Given the description of an element on the screen output the (x, y) to click on. 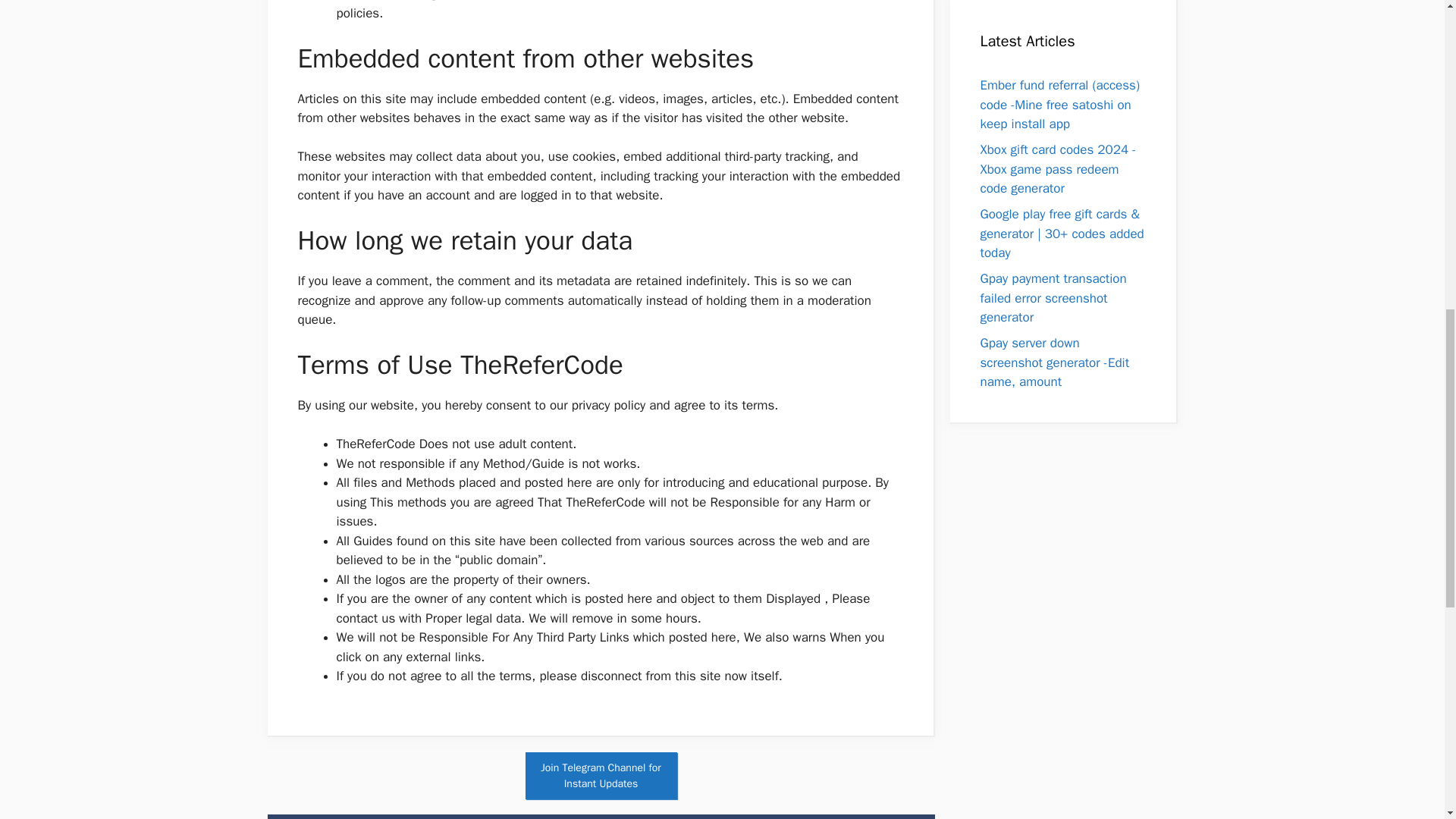
Gpay server down screenshot generator -Edit name, amount (1054, 361)
Gpay payment transaction failed error screenshot generator (1052, 298)
Join Telegram Channel for Instant Updates (600, 775)
